Given the description of an element on the screen output the (x, y) to click on. 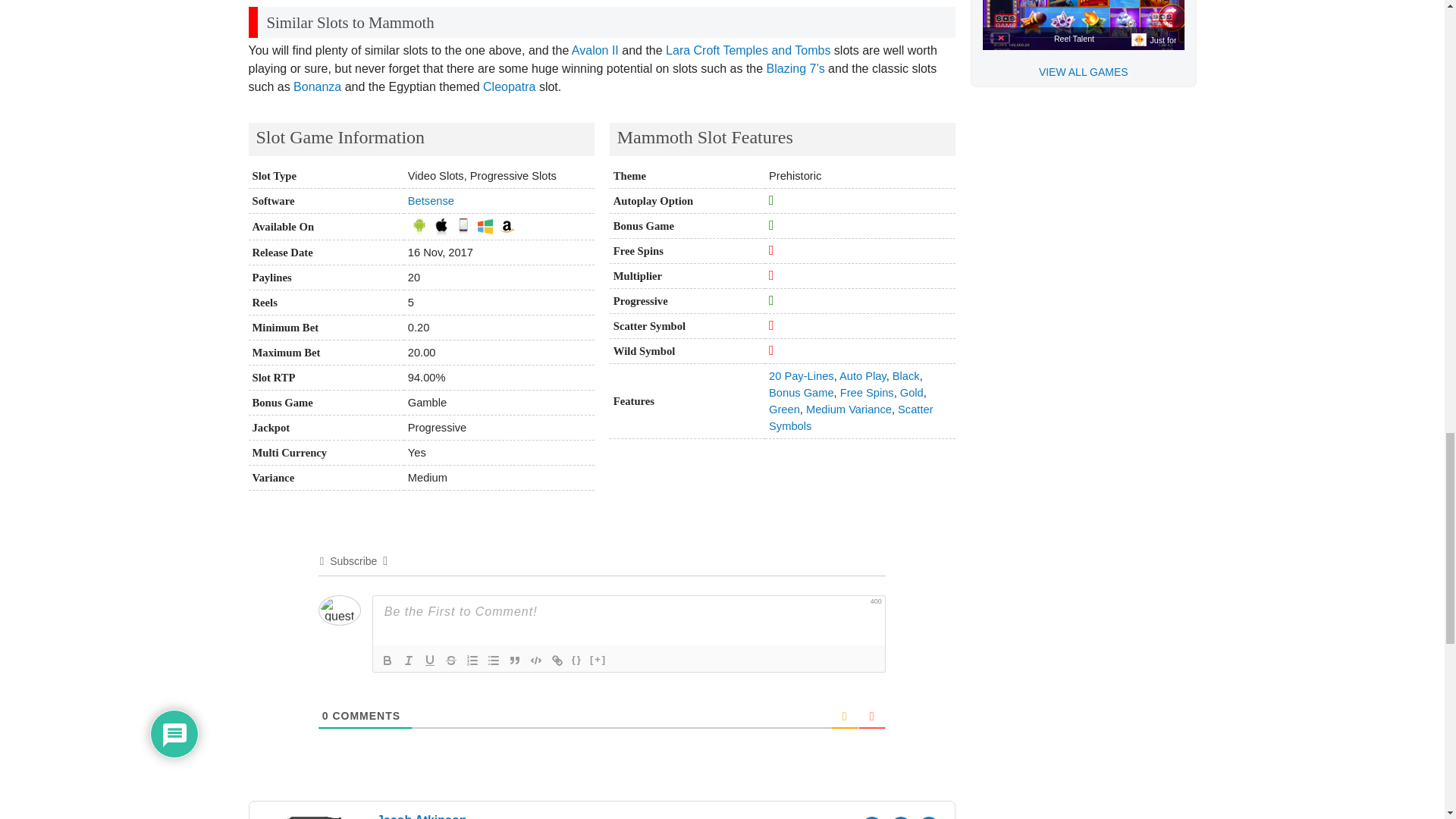
Kindle (507, 226)
Bold (387, 660)
Windows (485, 226)
Underline (430, 660)
Italic (408, 660)
